Given the description of an element on the screen output the (x, y) to click on. 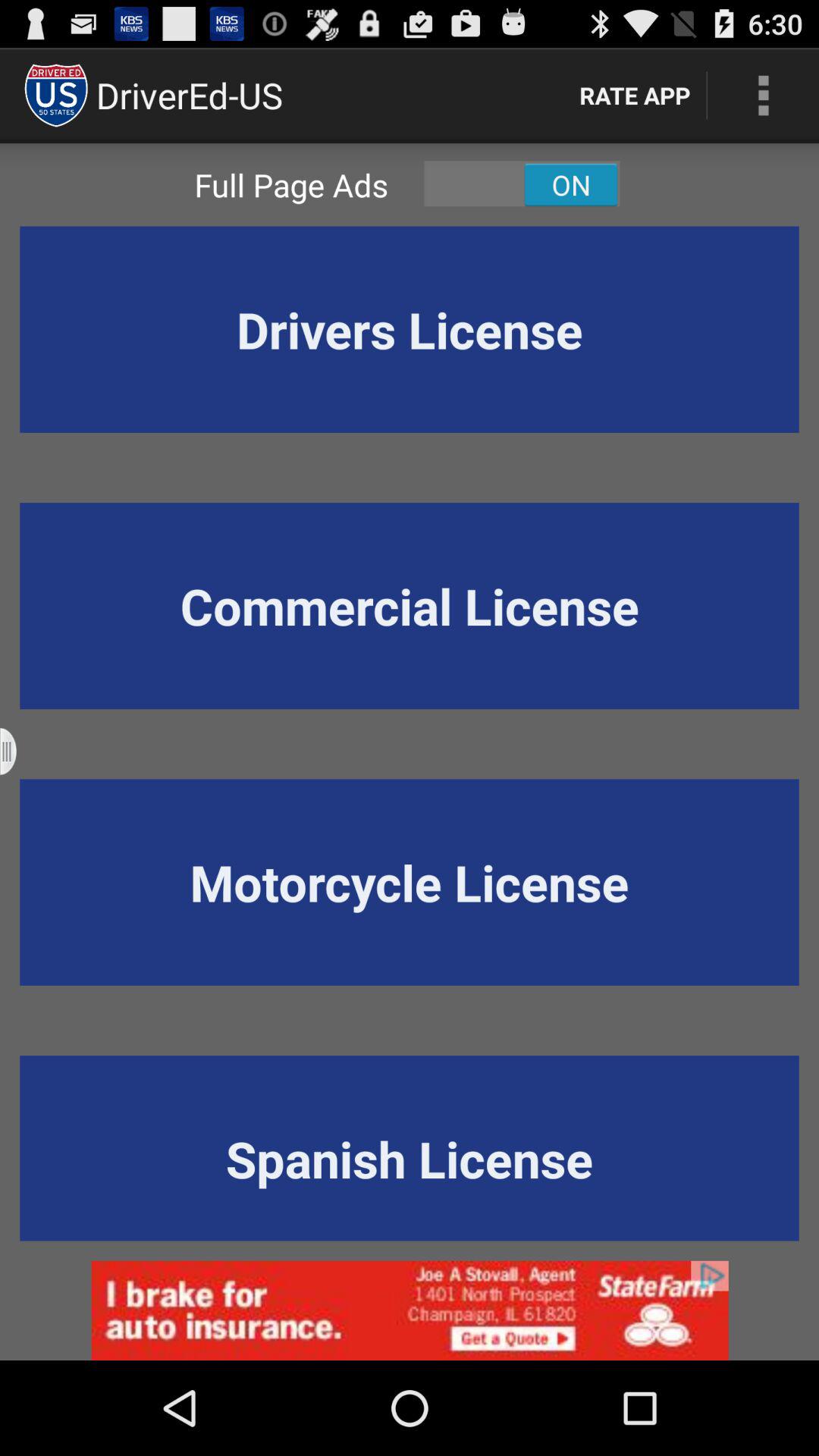
click advertisement (409, 1310)
